Given the description of an element on the screen output the (x, y) to click on. 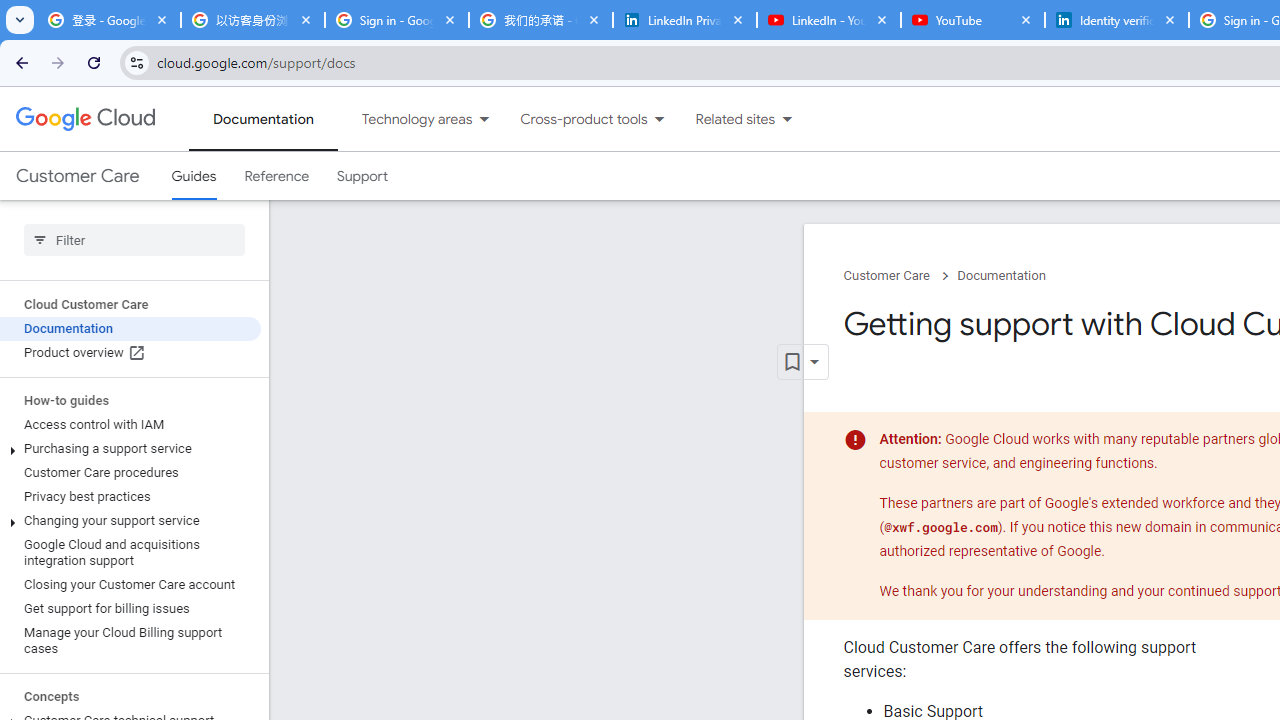
Technology areas (404, 119)
Privacy best practices (130, 497)
Customer Care chevron_right (900, 276)
Customer Care procedures (130, 472)
Guides, selected (193, 175)
Dropdown menu for Related sites (787, 119)
Closing your Customer Care account (130, 584)
Product overview (130, 353)
Google Cloud (84, 118)
Access control with IAM (130, 425)
